Given the description of an element on the screen output the (x, y) to click on. 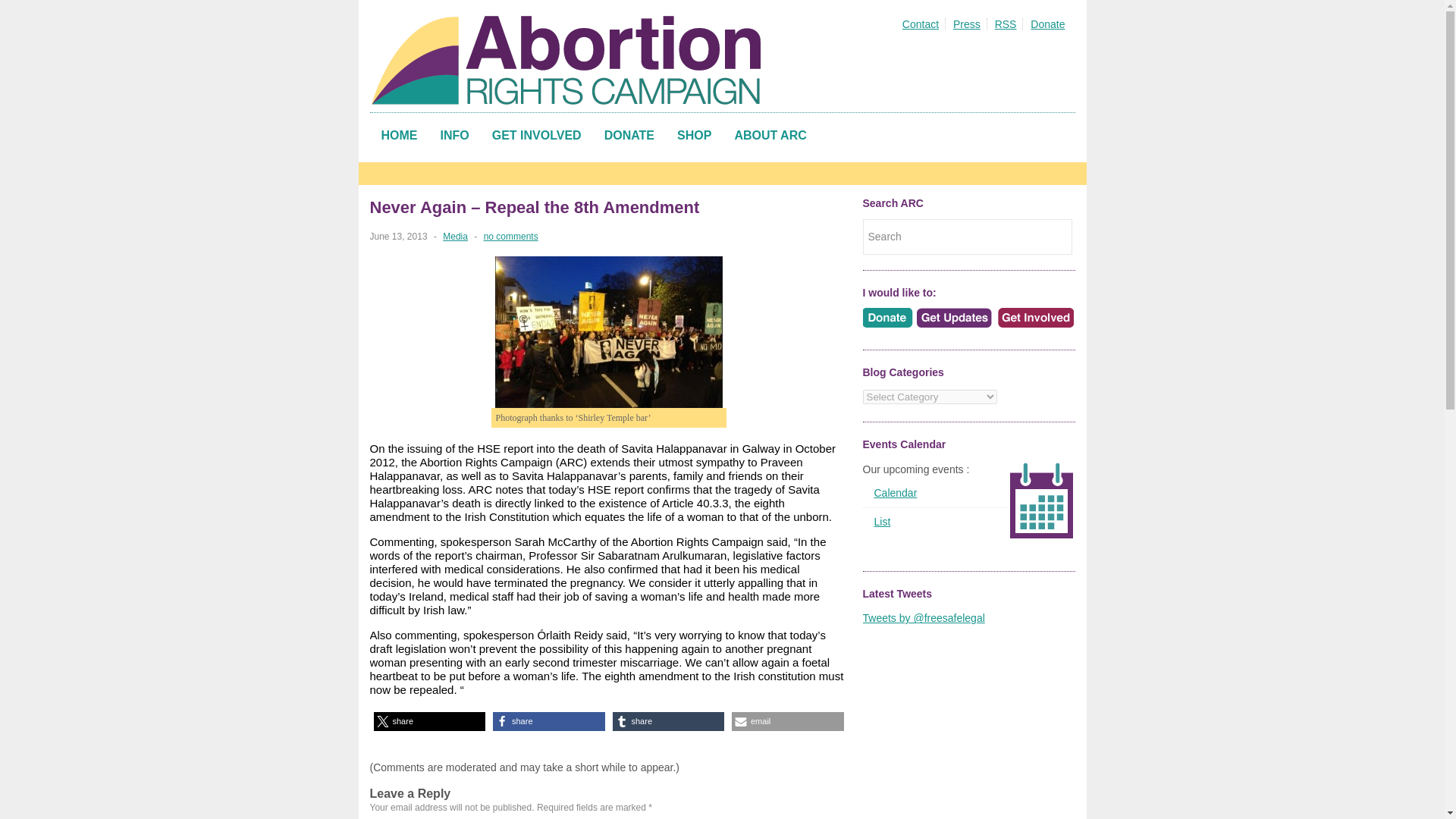
Abortion Rights Campaign (570, 59)
Search (967, 236)
Press (968, 24)
no comments (510, 235)
share  (668, 721)
Share on X (428, 721)
Share on tumblr (668, 721)
DONATE (628, 135)
Donate (1048, 24)
GET INVOLVED (536, 135)
